Given the description of an element on the screen output the (x, y) to click on. 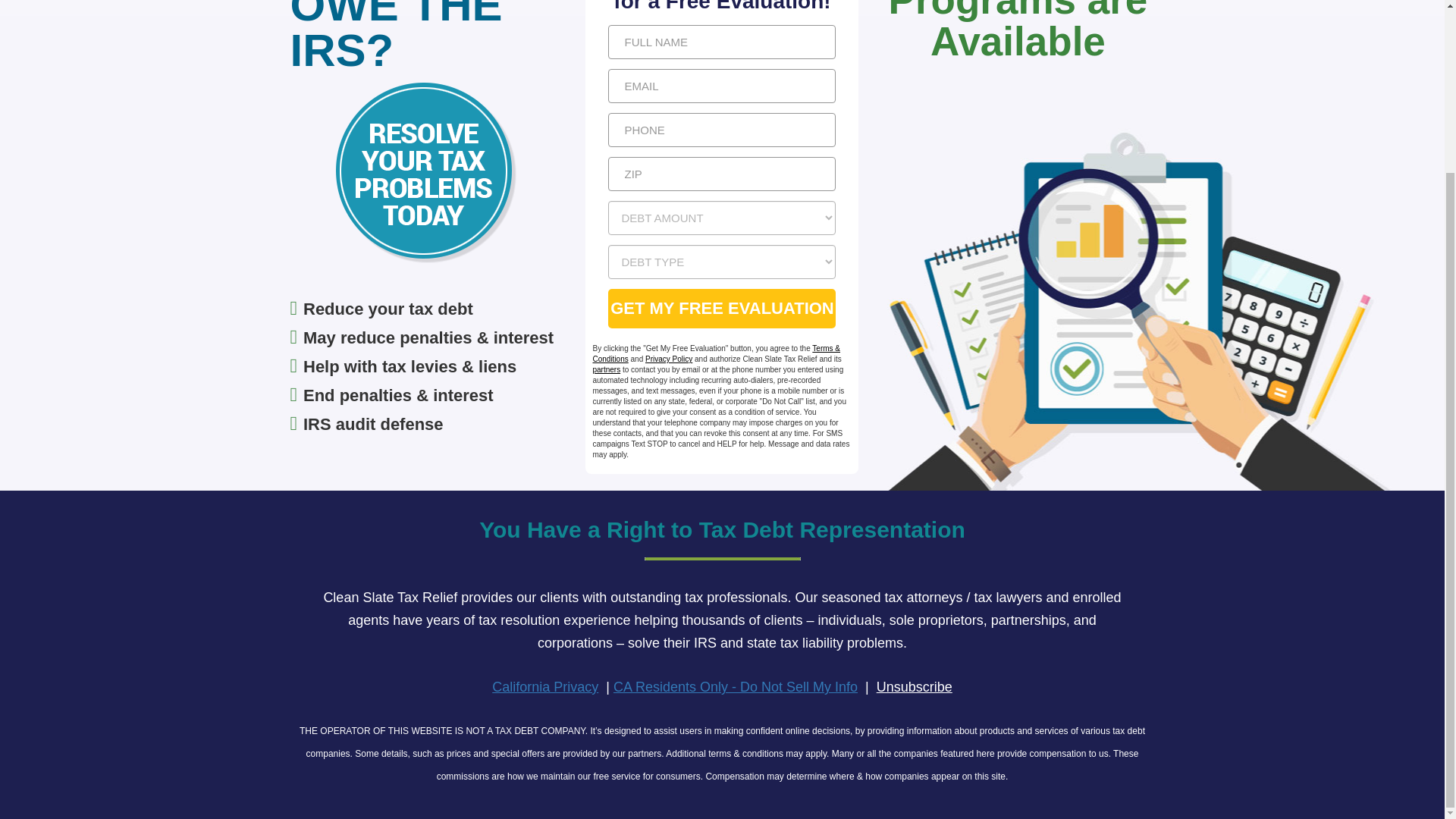
CA Residents Only - Do Not Sell My Info (734, 686)
Privacy Policy (669, 358)
partners (606, 369)
California Privacy (545, 686)
Get MY FREE EVALUATION (721, 308)
Unsubscribe (914, 686)
GET MY FREE EVALUATION (721, 308)
